Given the description of an element on the screen output the (x, y) to click on. 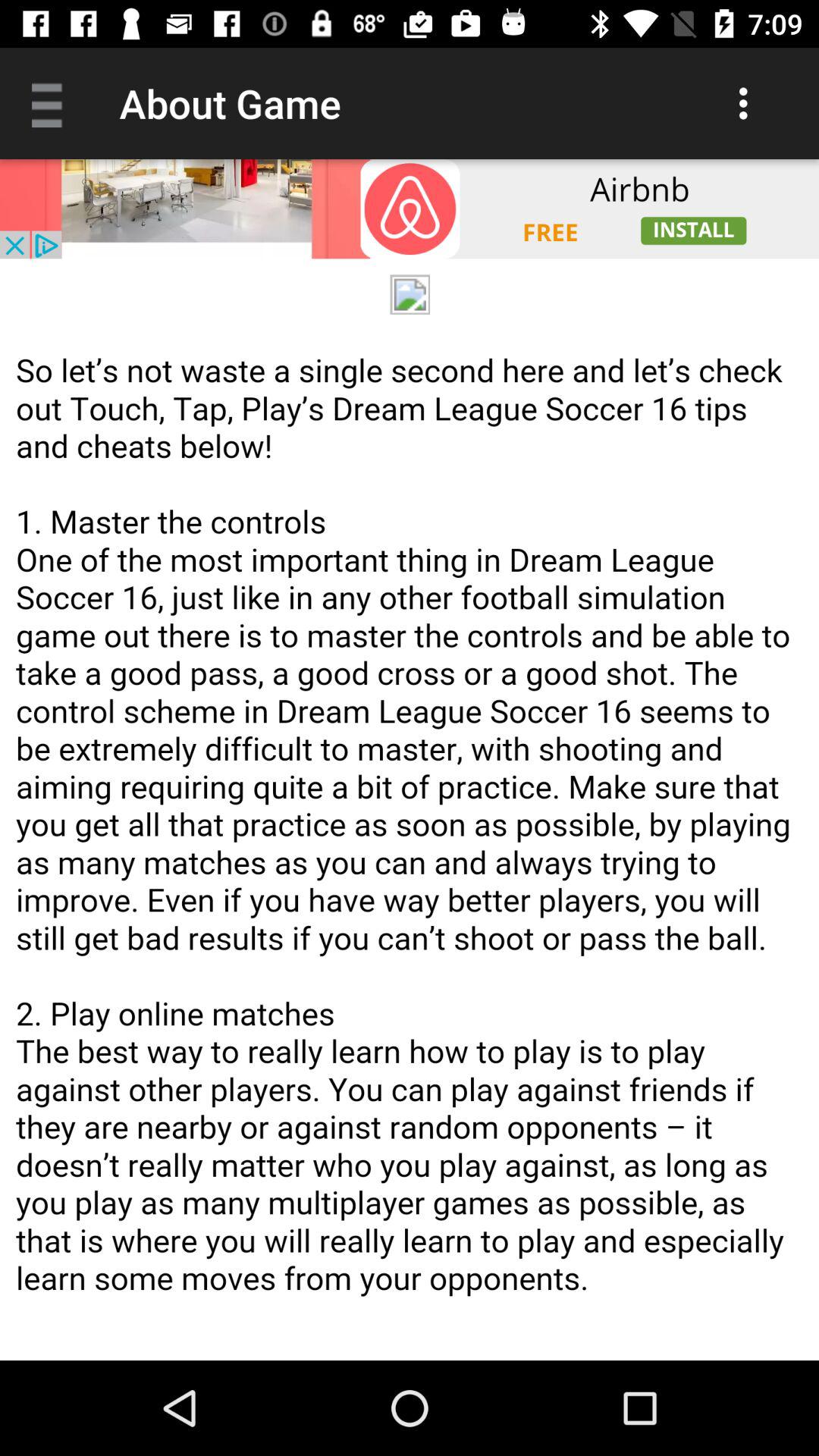
install airbnb app (409, 208)
